Given the description of an element on the screen output the (x, y) to click on. 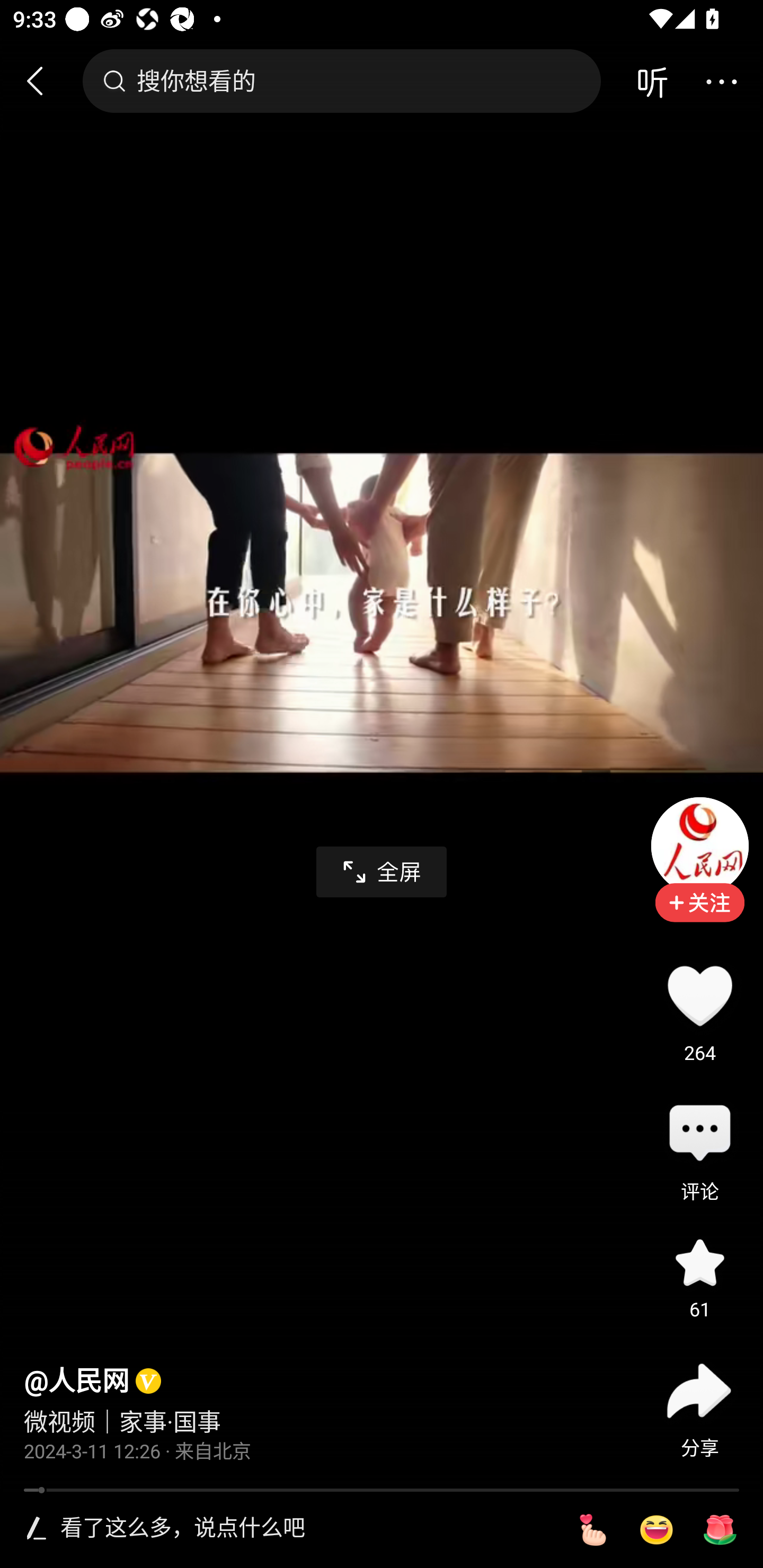
搜你想看的 搜索框，搜你想看的 (341, 80)
返回 (43, 80)
音频 (651, 80)
更多操作 (720, 80)
头像 (699, 845)
全屏播放 (381, 871)
加关注 (699, 915)
点赞264 264 (699, 995)
评论 评论 评论 (699, 1134)
收藏 61 (699, 1262)
分享 (699, 1390)
@人民网 (75, 1381)
看了这么多，说点什么吧 (305, 1529)
[比心] (592, 1530)
[大笑] (656, 1530)
[玫瑰] (719, 1530)
